Given the description of an element on the screen output the (x, y) to click on. 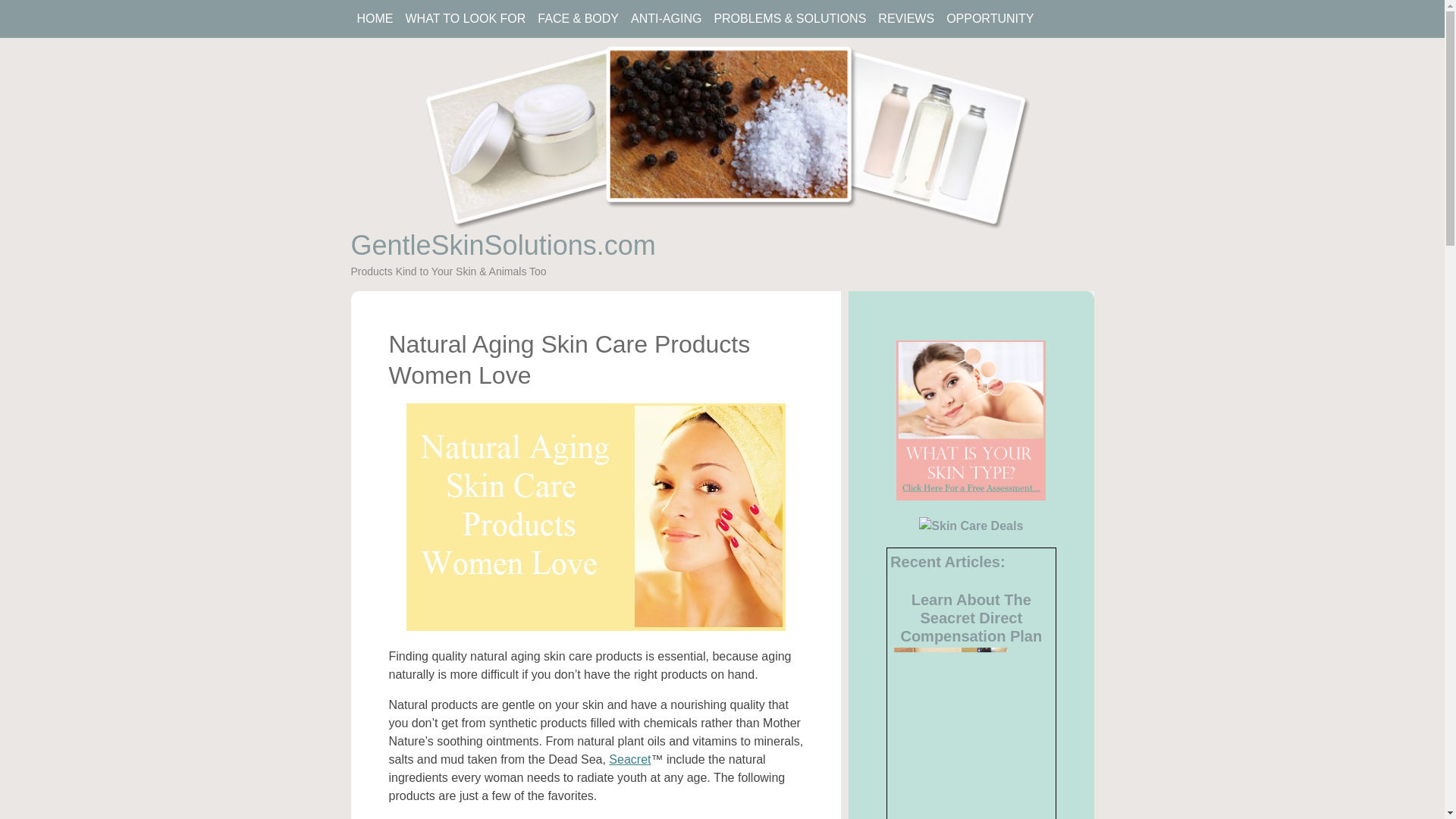
OPPORTUNITY (989, 18)
Recent Articles: (947, 561)
HOME (374, 18)
ANTI-AGING (665, 18)
GentleSkinSolutions.com (502, 245)
REVIEWS (906, 18)
Skin Care Deals (970, 525)
Natural Aging Skin Care Products Women Love (596, 516)
Go to Best Natural Skin Product for Your Skin Type (970, 495)
Natural Skin Product (970, 420)
Learn About The Seacret Direct Compensation Plan (970, 617)
Seacret (629, 758)
WHAT TO LOOK FOR (464, 18)
